Given the description of an element on the screen output the (x, y) to click on. 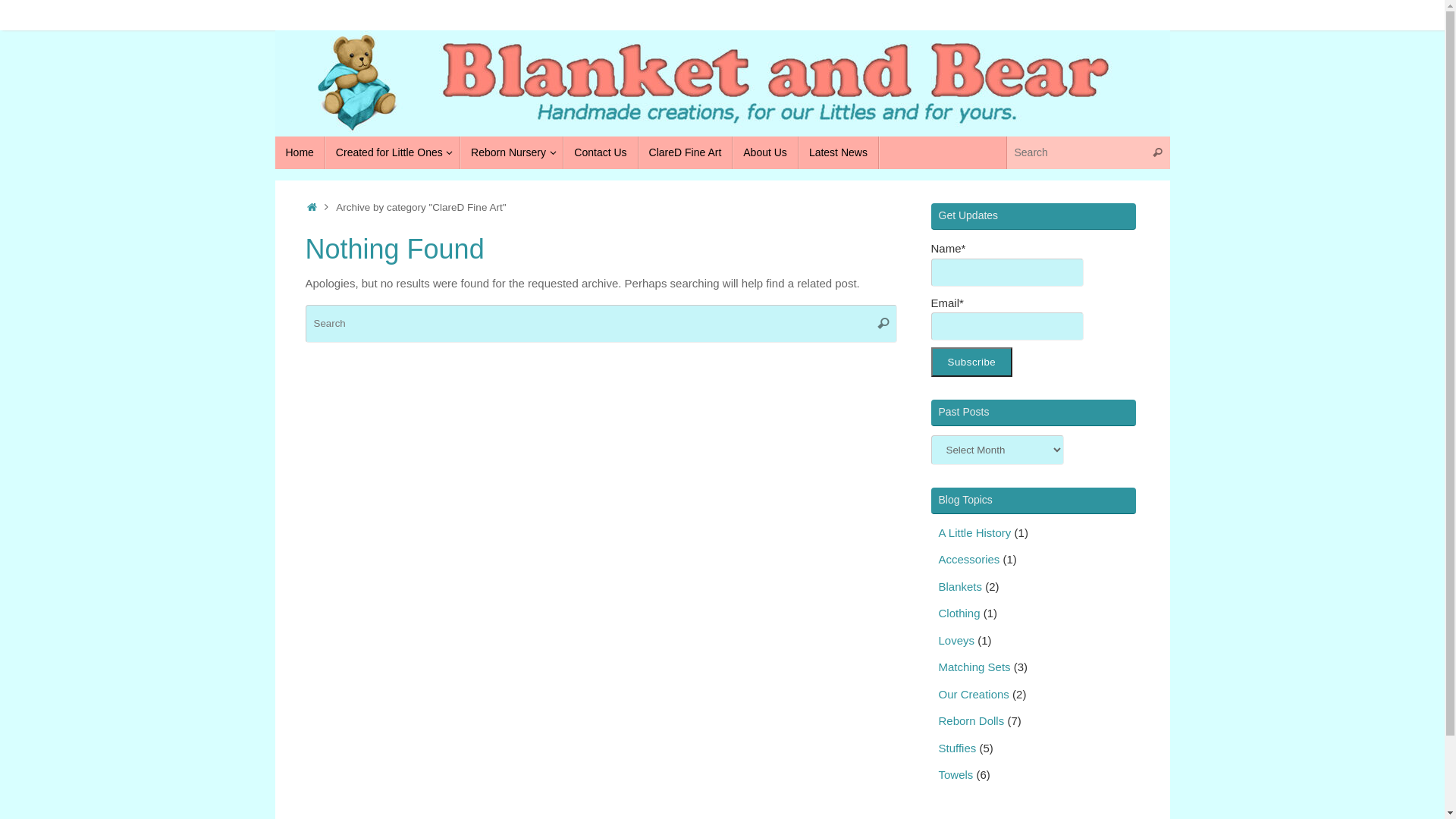
Home Element type: text (299, 152)
Reborn Dolls Element type: text (971, 720)
Created for Little Ones Element type: text (392, 152)
Towels Element type: text (955, 774)
Search Element type: text (1157, 152)
Latest News Element type: text (838, 152)
A Little History Element type: text (974, 532)
About Us Element type: text (765, 152)
Clothing Element type: text (959, 612)
Home Element type: text (311, 207)
Our Creations Element type: text (973, 693)
Search Element type: text (883, 323)
Stuffies Element type: text (957, 747)
Blankets Element type: text (960, 586)
ClareD Fine Art Element type: text (685, 152)
Accessories Element type: text (969, 558)
Skip to content Element type: text (274, 159)
Matching Sets Element type: text (974, 666)
Reborn Nursery Element type: text (511, 152)
Loveys Element type: text (956, 639)
Contact Us Element type: text (600, 152)
Subscribe Element type: text (972, 361)
